Given the description of an element on the screen output the (x, y) to click on. 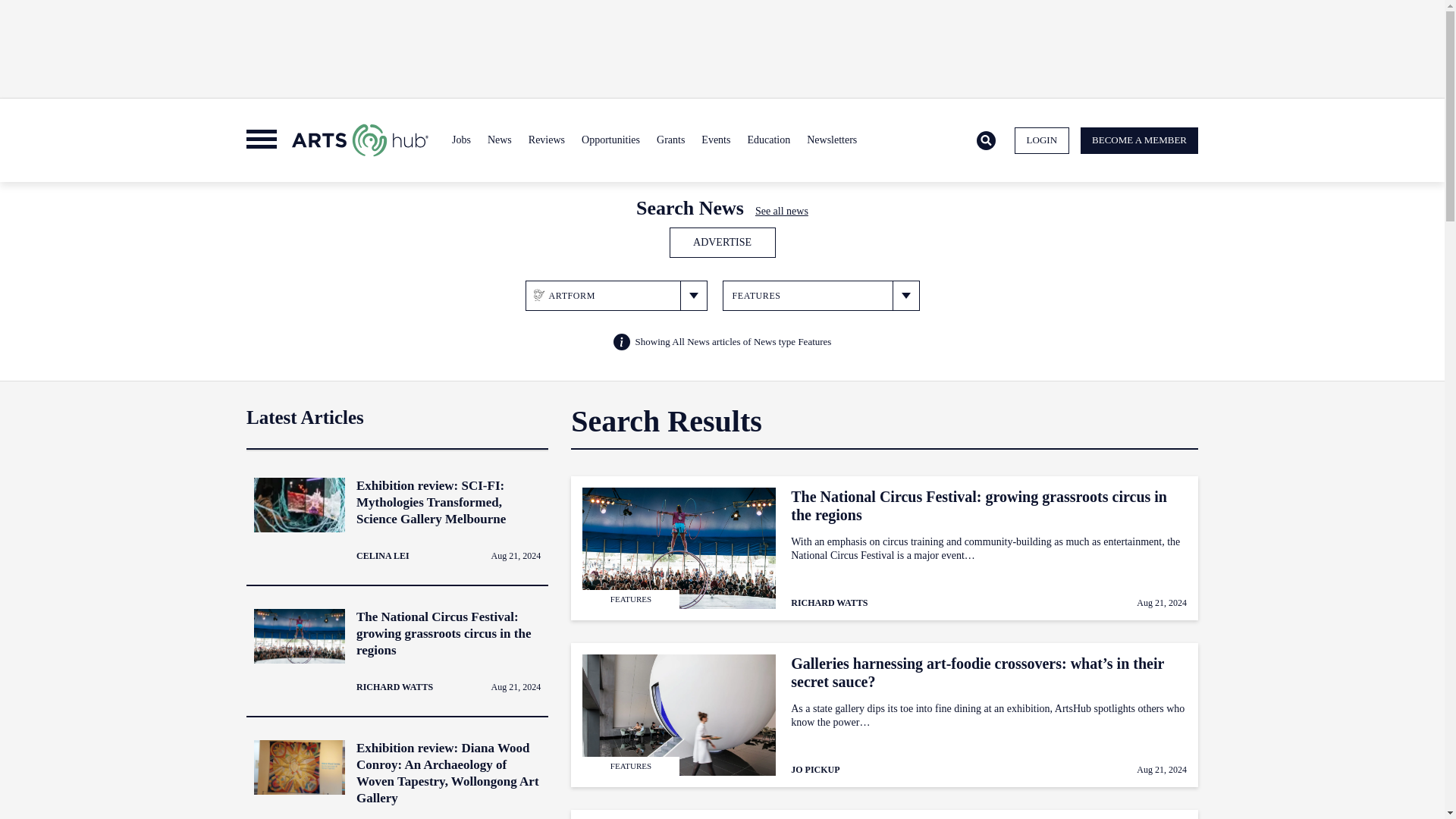
Opportunities (610, 139)
Search Icon (985, 140)
Education (768, 139)
Jobs (461, 139)
LOGIN (1041, 140)
Events (715, 139)
Newsletters (832, 139)
BECOME A MEMBER (1139, 140)
Search Icon (985, 139)
Grants (670, 139)
